Given the description of an element on the screen output the (x, y) to click on. 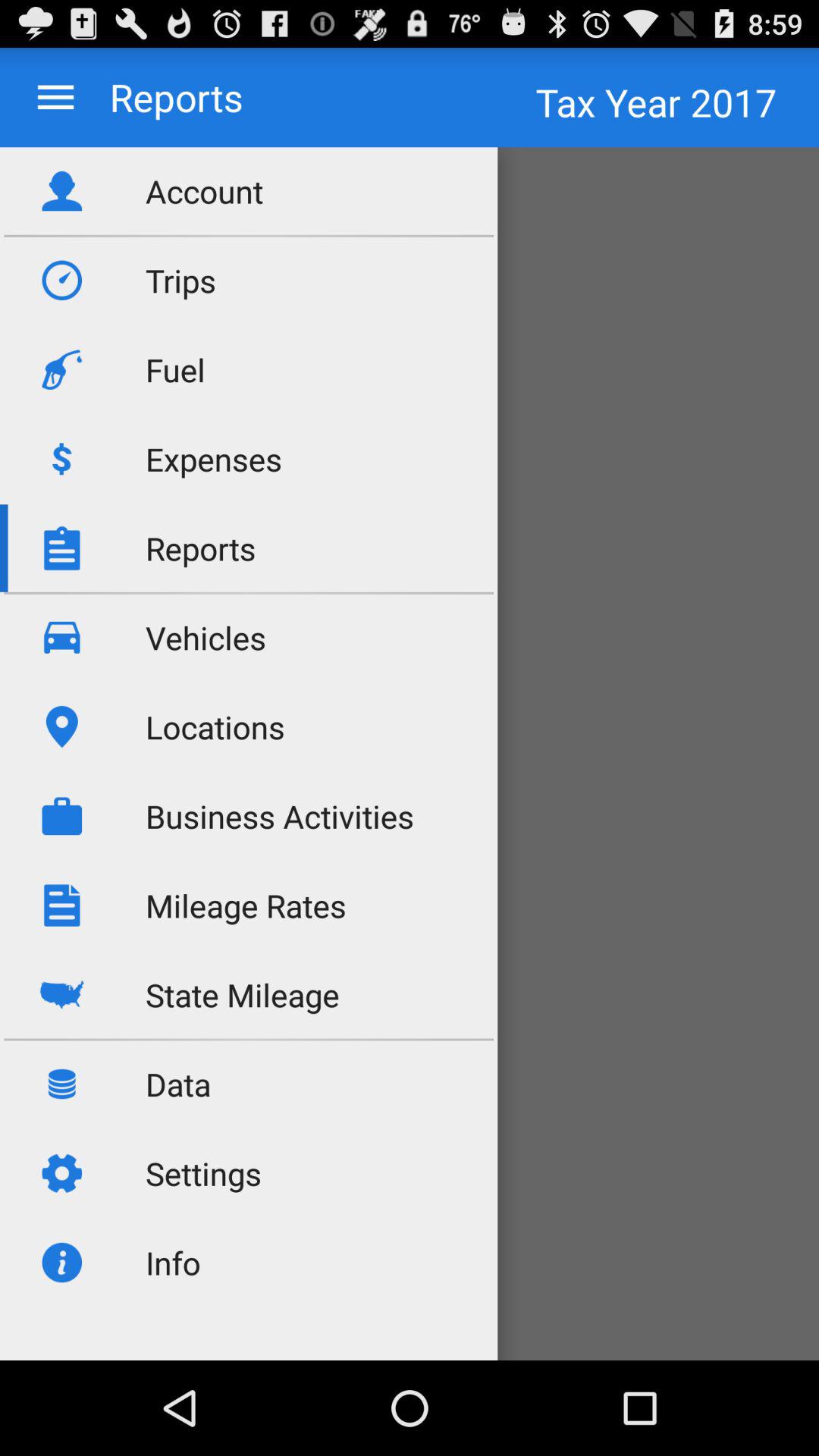
turn off the icon at the center (279, 815)
